Given the description of an element on the screen output the (x, y) to click on. 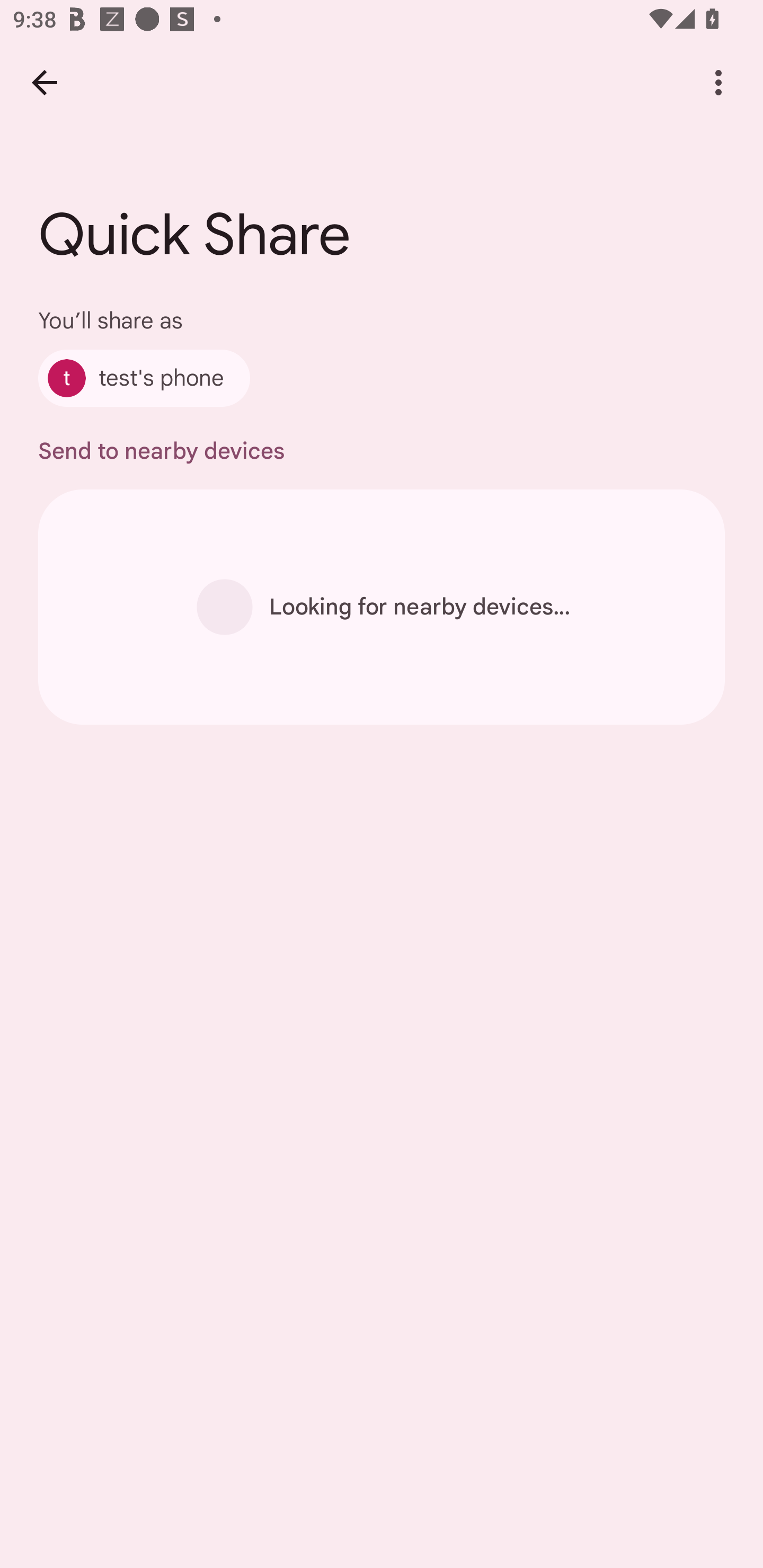
Back (44, 81)
More (718, 81)
test's phone (144, 378)
